Given the description of an element on the screen output the (x, y) to click on. 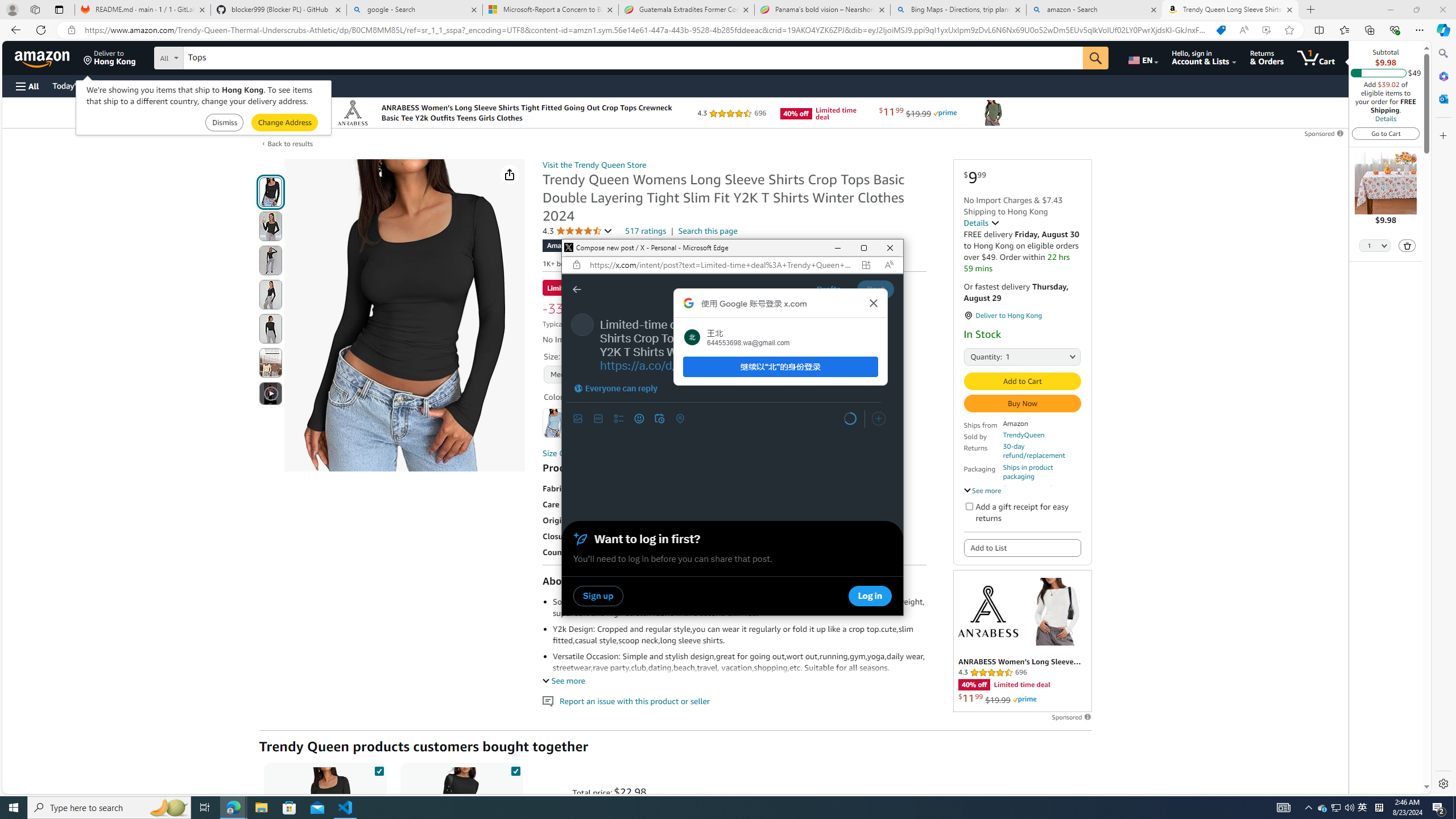
Enhance video (1266, 29)
Add photos or video (577, 418)
Search Amazon (633, 57)
Microsoft Edge - 3 running windows (233, 807)
Prime (1023, 699)
Tray Input Indicator - Chinese (Simplified, China) (1378, 807)
30-day refund/replacement (1042, 451)
Back to results (290, 143)
Previous (579, 418)
Class: Bz112c Bz112c-r9oPif (873, 302)
Running applications (700, 807)
